Given the description of an element on the screen output the (x, y) to click on. 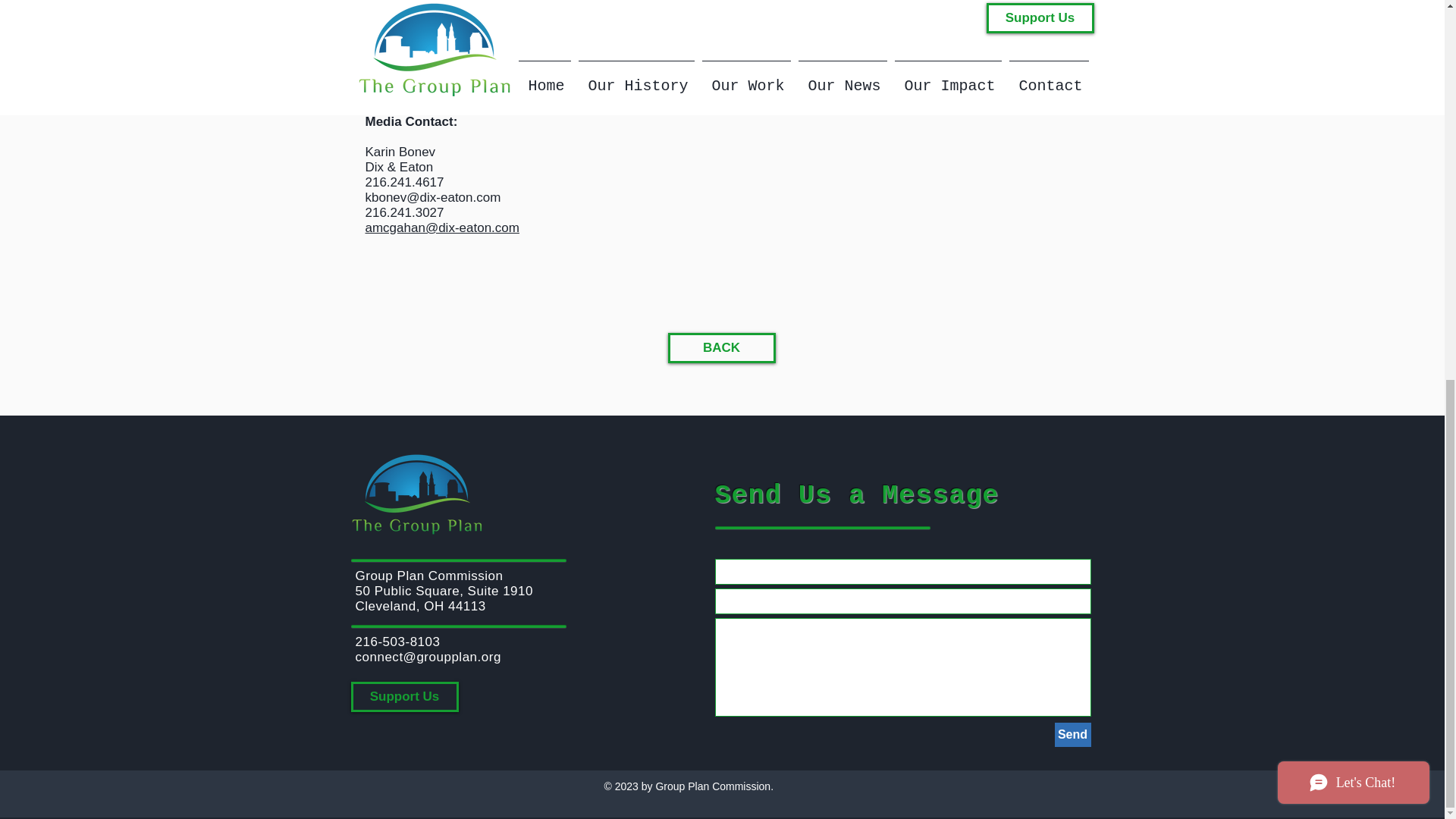
Send (1072, 734)
Support Us (404, 696)
BACK (720, 347)
